Given the description of an element on the screen output the (x, y) to click on. 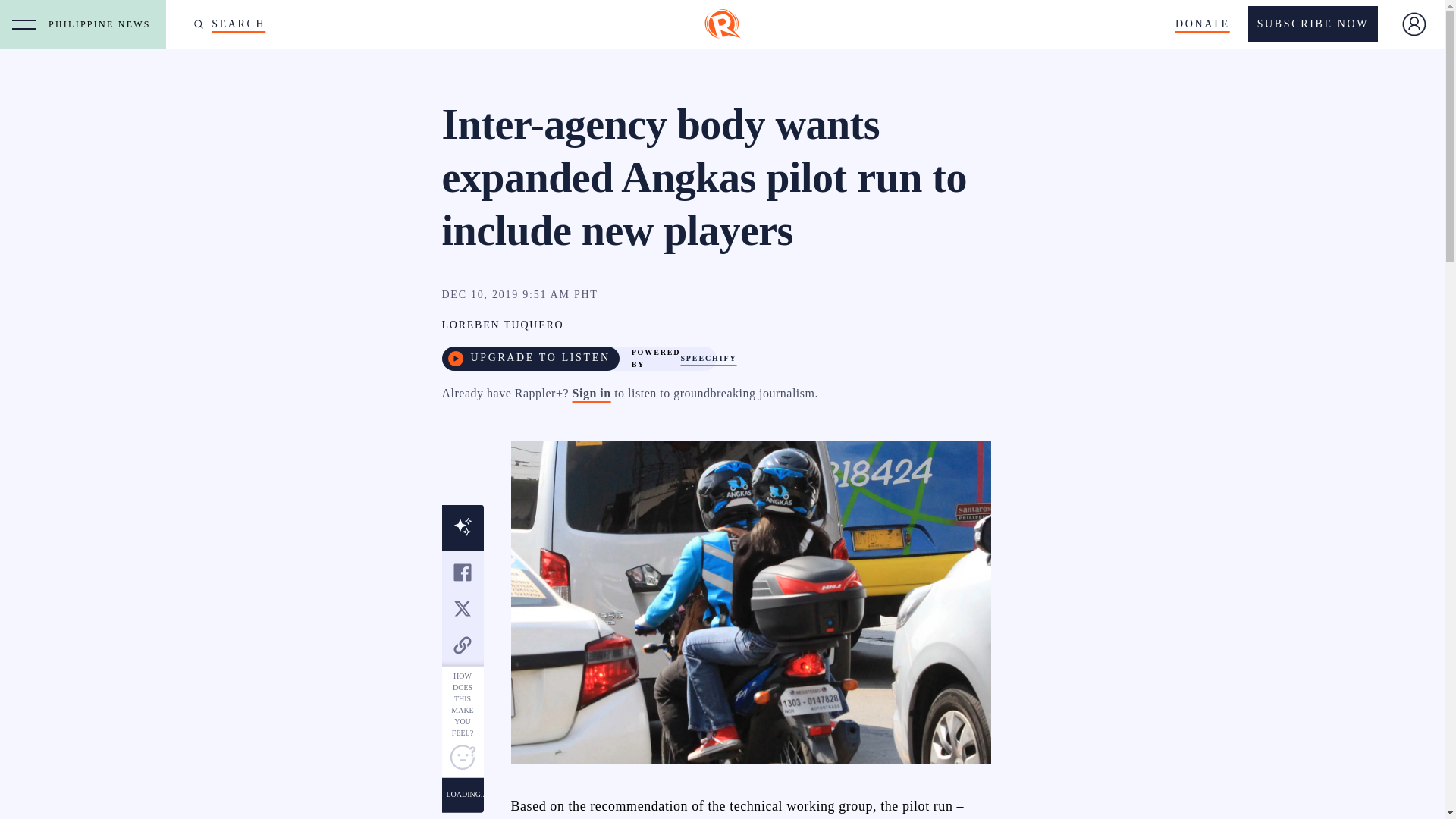
PHILIPPINE NEWS (103, 23)
OPEN NAVIGATION (24, 24)
